Given the description of an element on the screen output the (x, y) to click on. 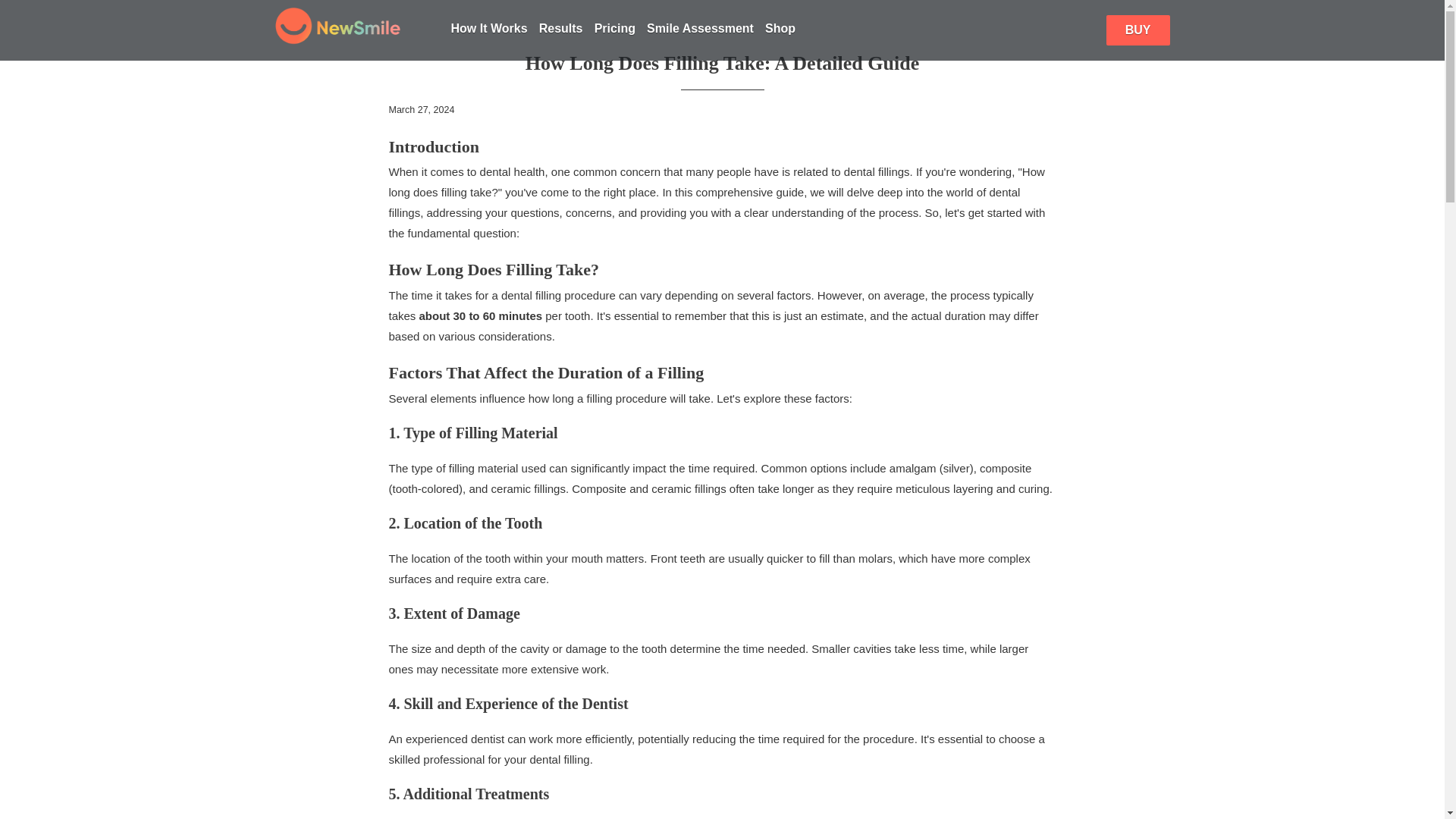
How It Works (487, 28)
Shop (779, 28)
Pricing (615, 28)
Smile Assessment (700, 28)
BUY (1138, 30)
Results (560, 28)
NewSmile UK (352, 30)
